Given the description of an element on the screen output the (x, y) to click on. 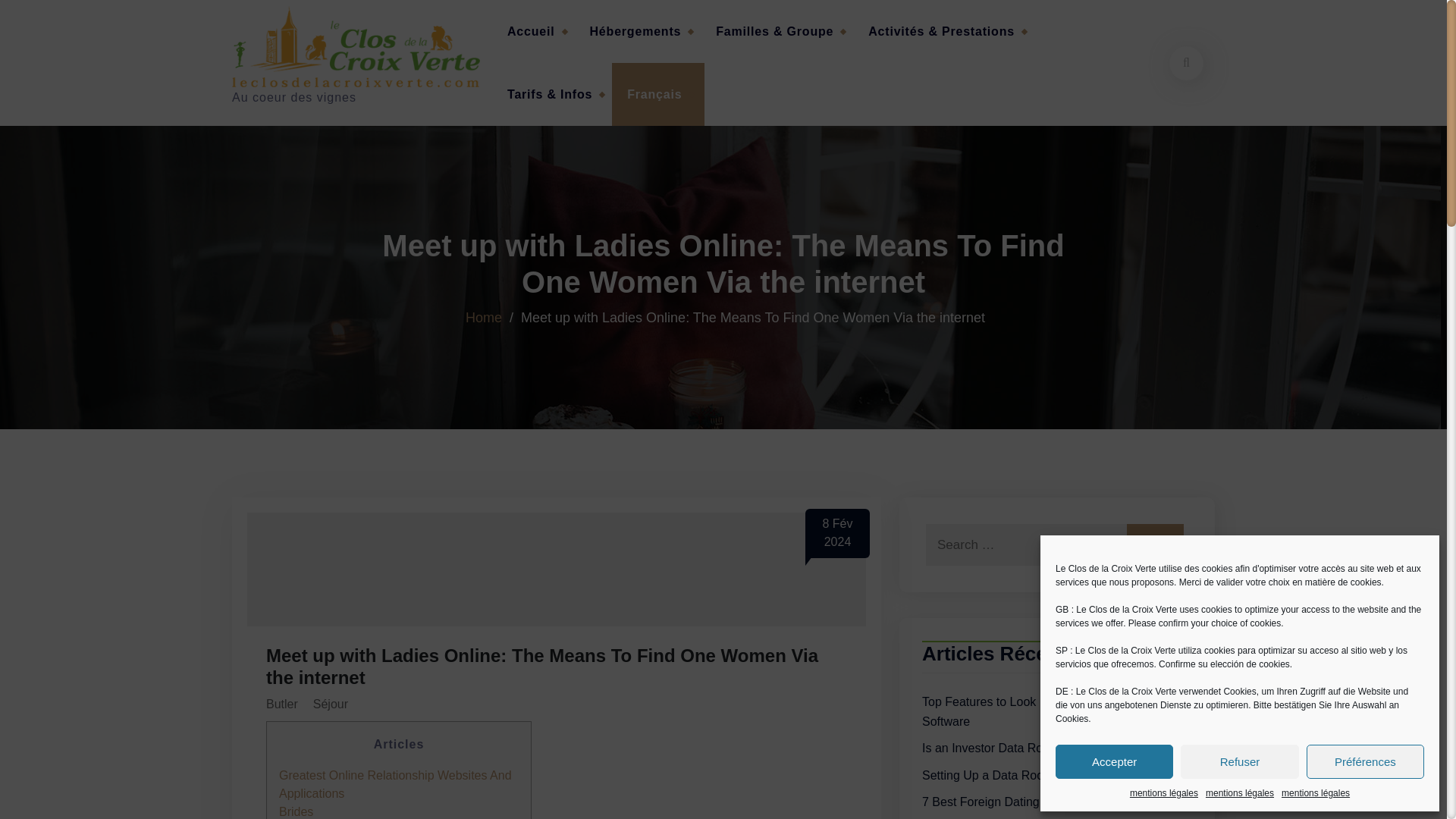
Butler (282, 703)
Accueil (533, 31)
Accueil (533, 31)
Search (1154, 544)
Greatest Online Relationship Websites And Applications (395, 784)
Butler (282, 703)
Home (483, 316)
Brides (296, 811)
Accepter (1114, 761)
Refuser (1239, 761)
